Given the description of an element on the screen output the (x, y) to click on. 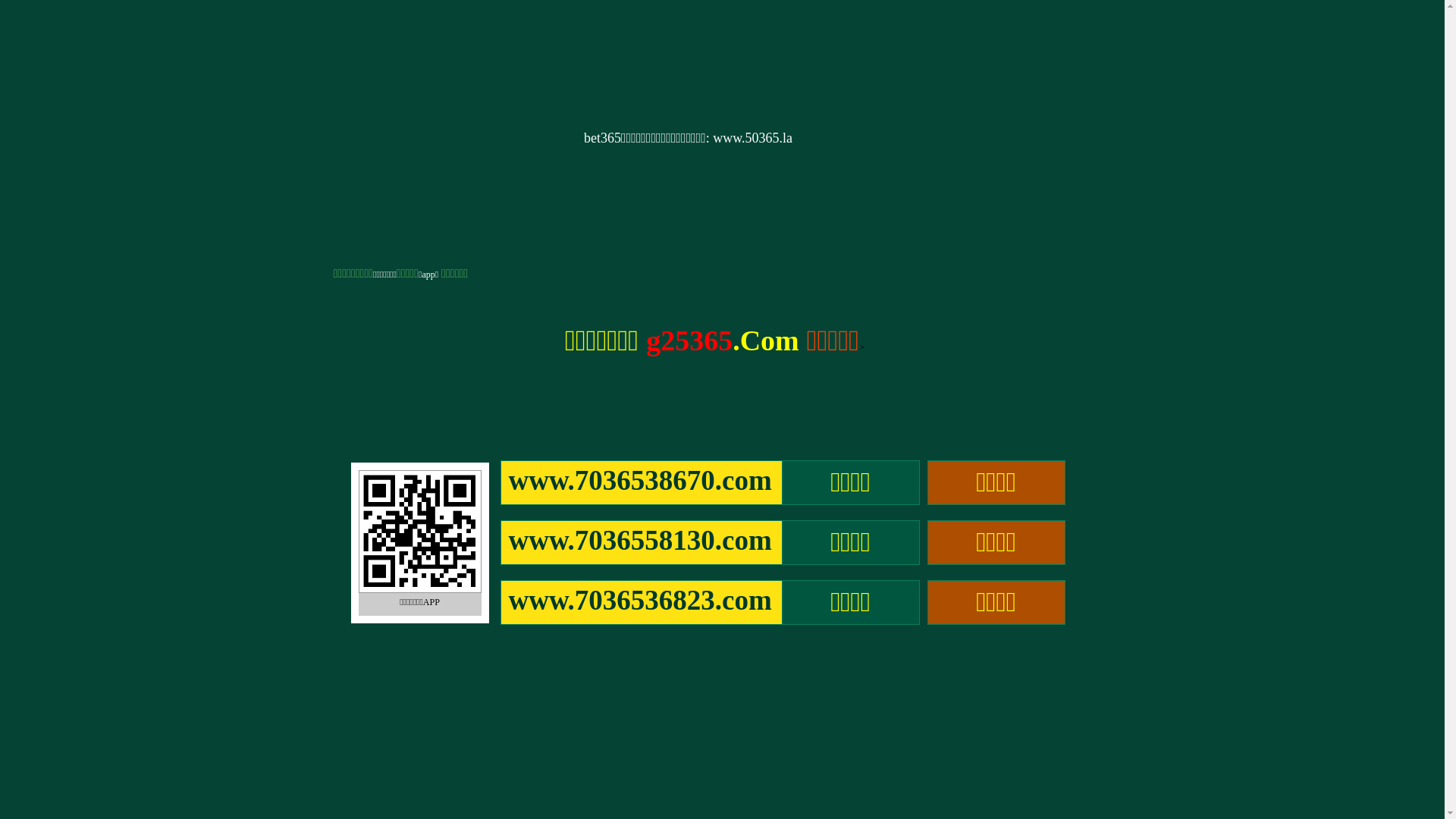
www.7036538670.com Element type: text (640, 482)
www.7036536823.com Element type: text (640, 602)
www.7036558130.com Element type: text (640, 542)
